Given the description of an element on the screen output the (x, y) to click on. 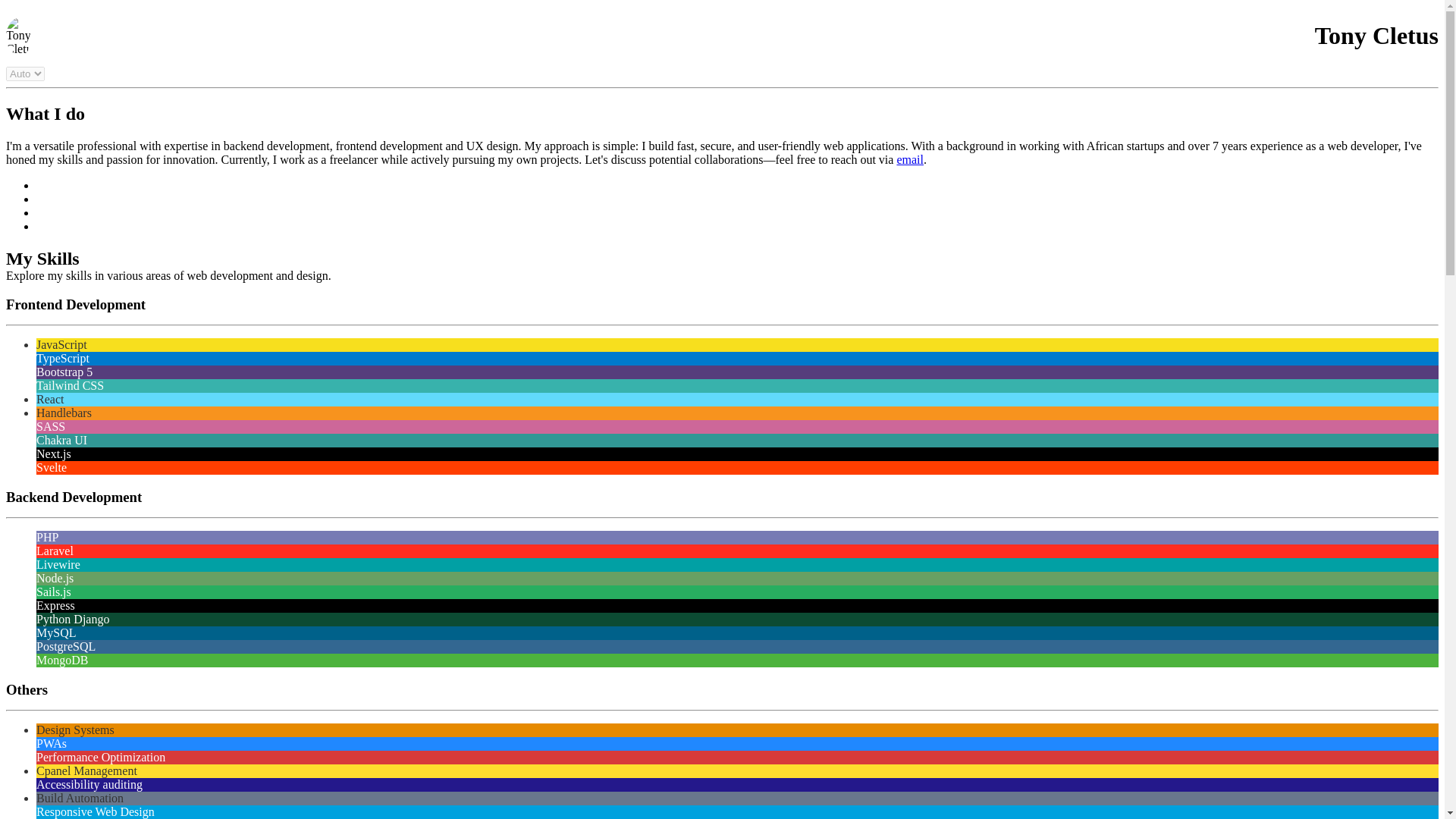
email (909, 159)
